Given the description of an element on the screen output the (x, y) to click on. 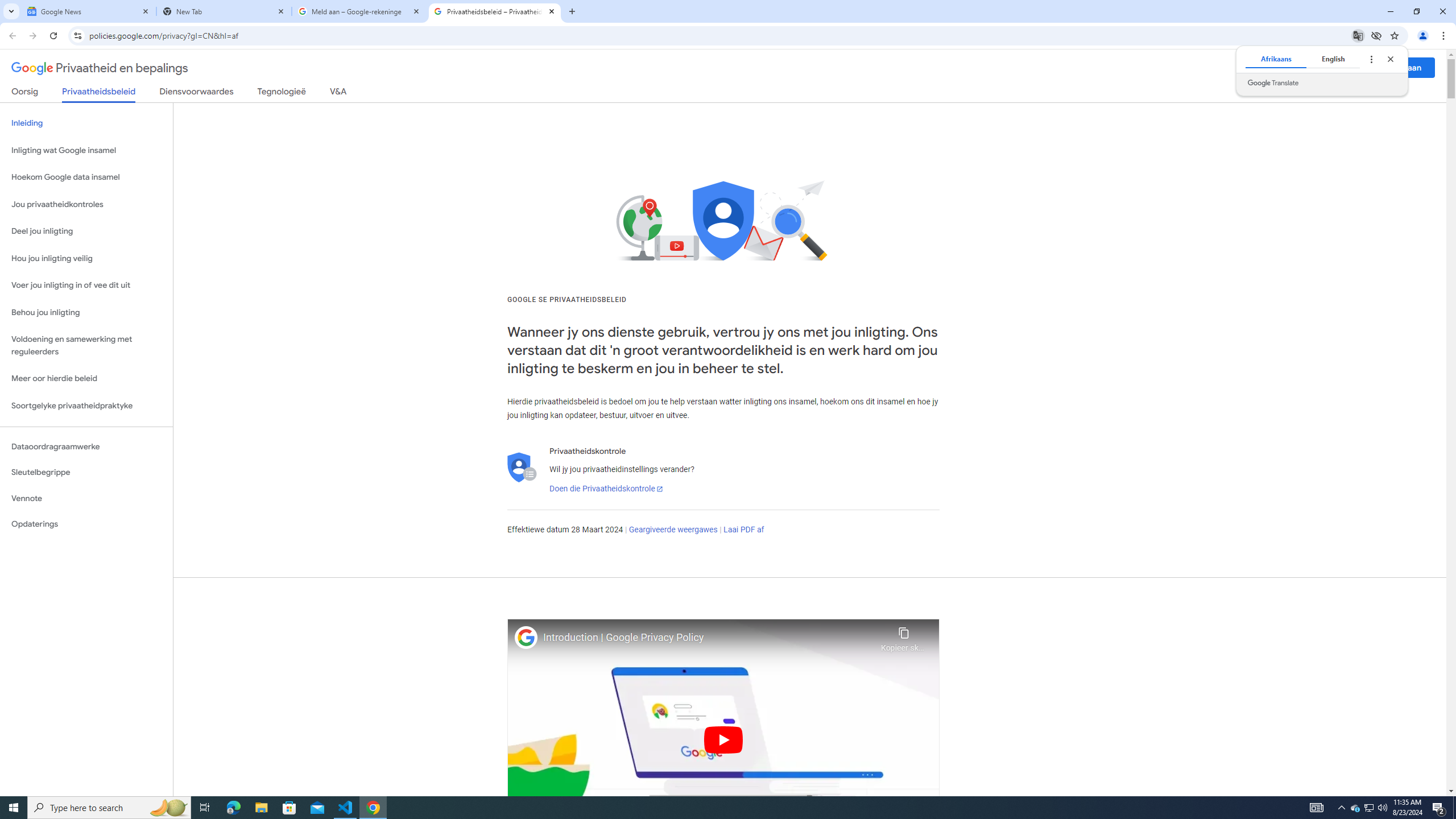
Kopieer skakel (903, 636)
Fotobeeld van Google (526, 636)
Geargiveerde weergawes (672, 529)
Voldoening en samewerking met reguleerders (86, 345)
Hou jou inligting veilig (86, 258)
Meer oor hierdie beleid (86, 379)
Laai PDF af (743, 529)
Diensvoorwaardes (196, 93)
